Given the description of an element on the screen output the (x, y) to click on. 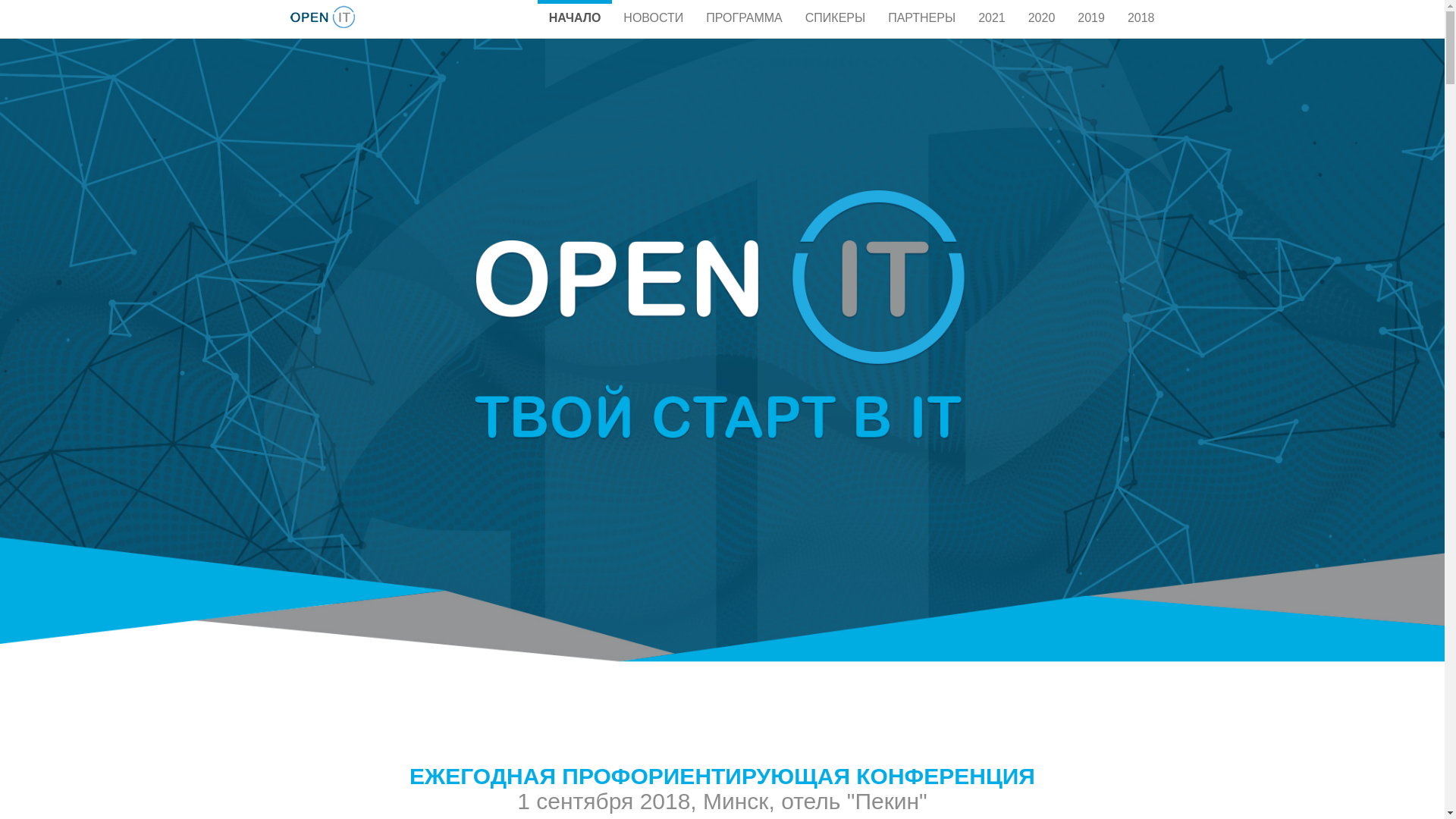
2019 Element type: text (1091, 17)
2021 Element type: text (991, 17)
2018 Element type: text (1141, 17)
2020 Element type: text (1041, 17)
